Given the description of an element on the screen output the (x, y) to click on. 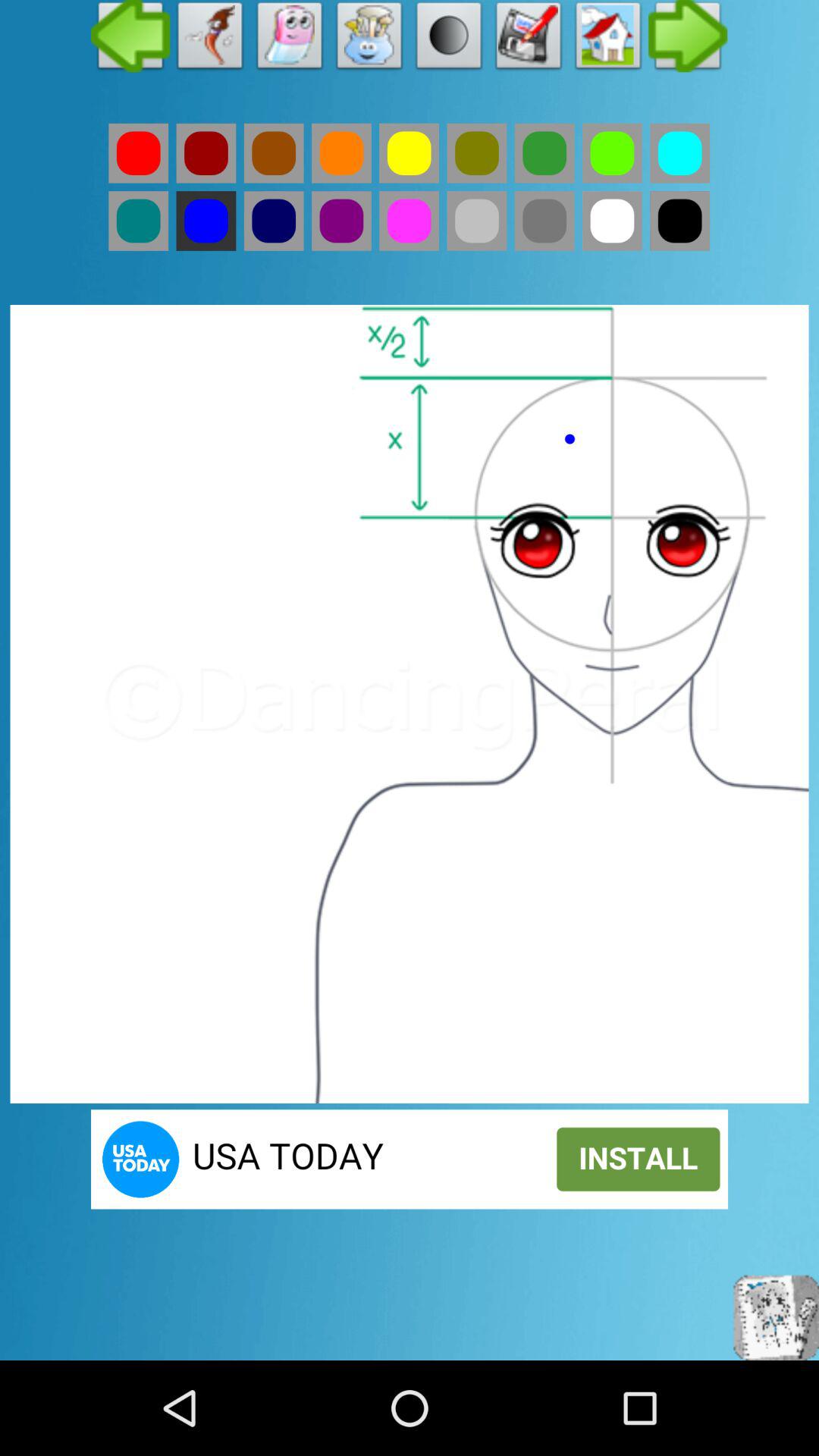
colour option (409, 153)
